Given the description of an element on the screen output the (x, y) to click on. 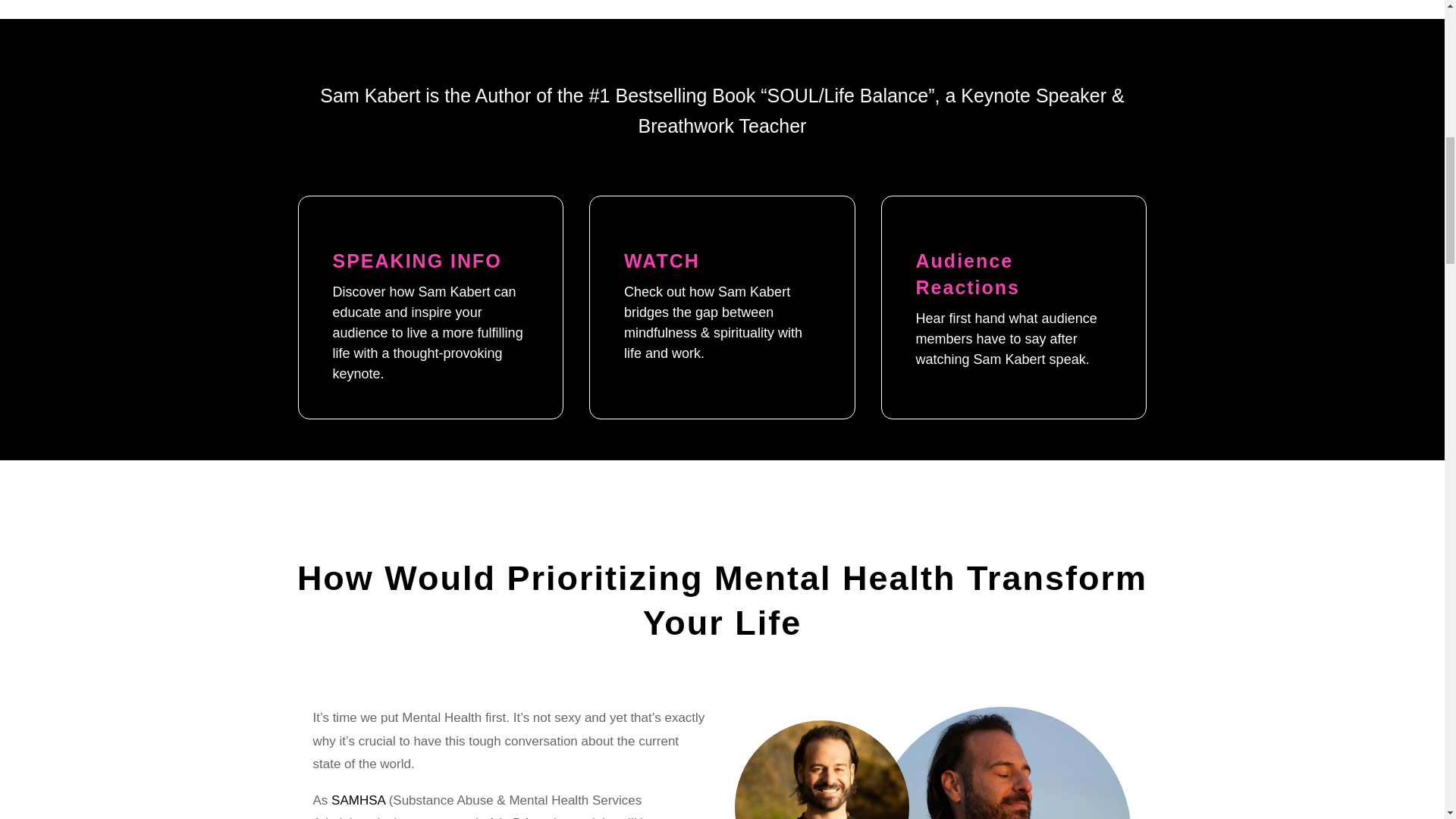
skphotodump4 (1002, 762)
skphotodump5 (821, 769)
